Given the description of an element on the screen output the (x, y) to click on. 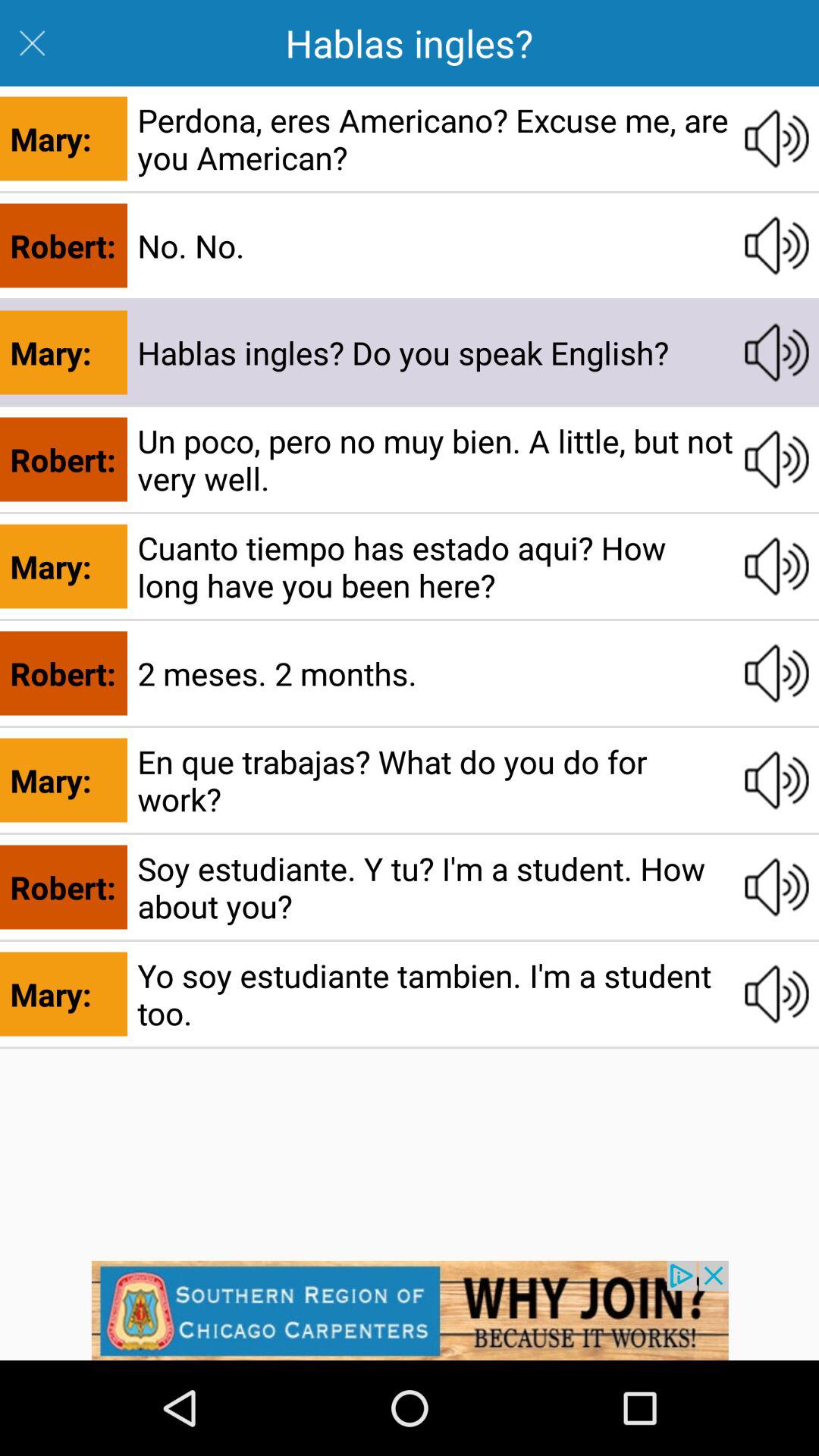
play audio (776, 245)
